Given the description of an element on the screen output the (x, y) to click on. 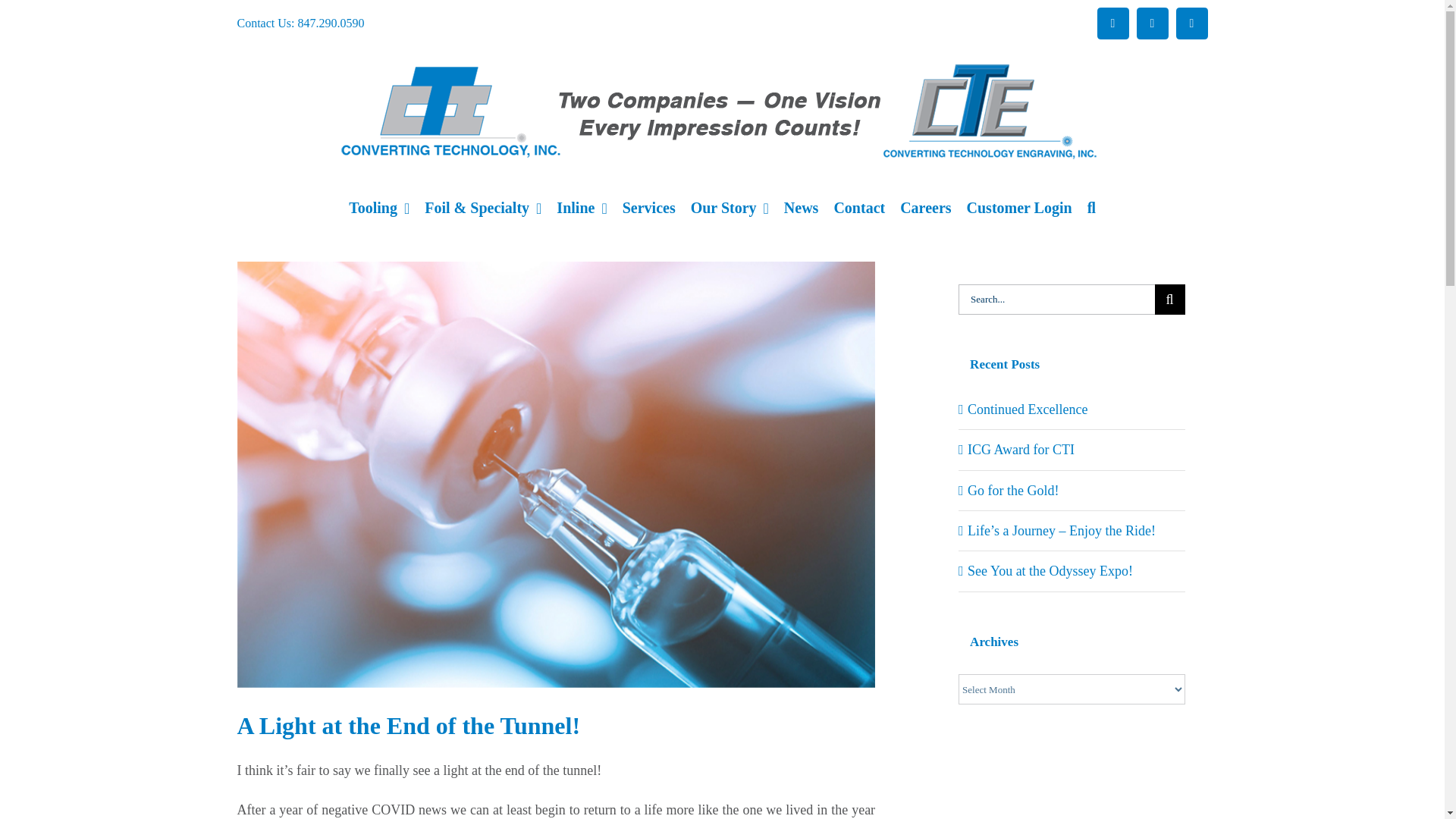
Search (1091, 207)
Inline (581, 207)
Services (649, 207)
News (801, 207)
Careers (924, 207)
Customer Login (1018, 207)
YouTube (1190, 23)
Contact (858, 207)
Facebook (1112, 23)
Tooling (379, 207)
LinkedIn (1151, 23)
Our Story (729, 207)
Facebook (1112, 23)
LinkedIn (1151, 23)
YouTube (1190, 23)
